Given the description of an element on the screen output the (x, y) to click on. 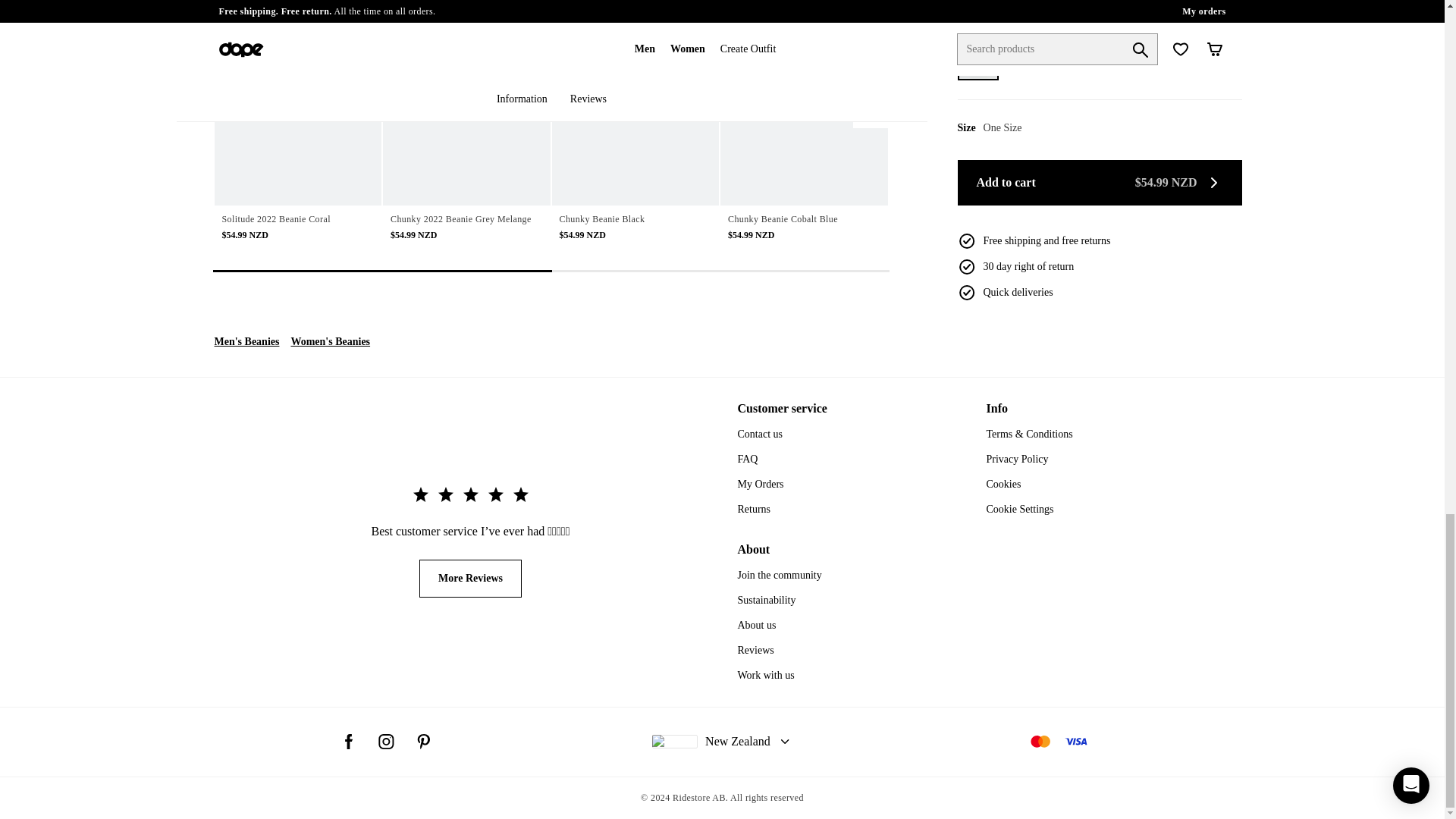
Men's Beanies (246, 341)
Contact us (759, 433)
More Reviews (470, 578)
FAQ (746, 459)
Women's Beanies (329, 342)
